Given the description of an element on the screen output the (x, y) to click on. 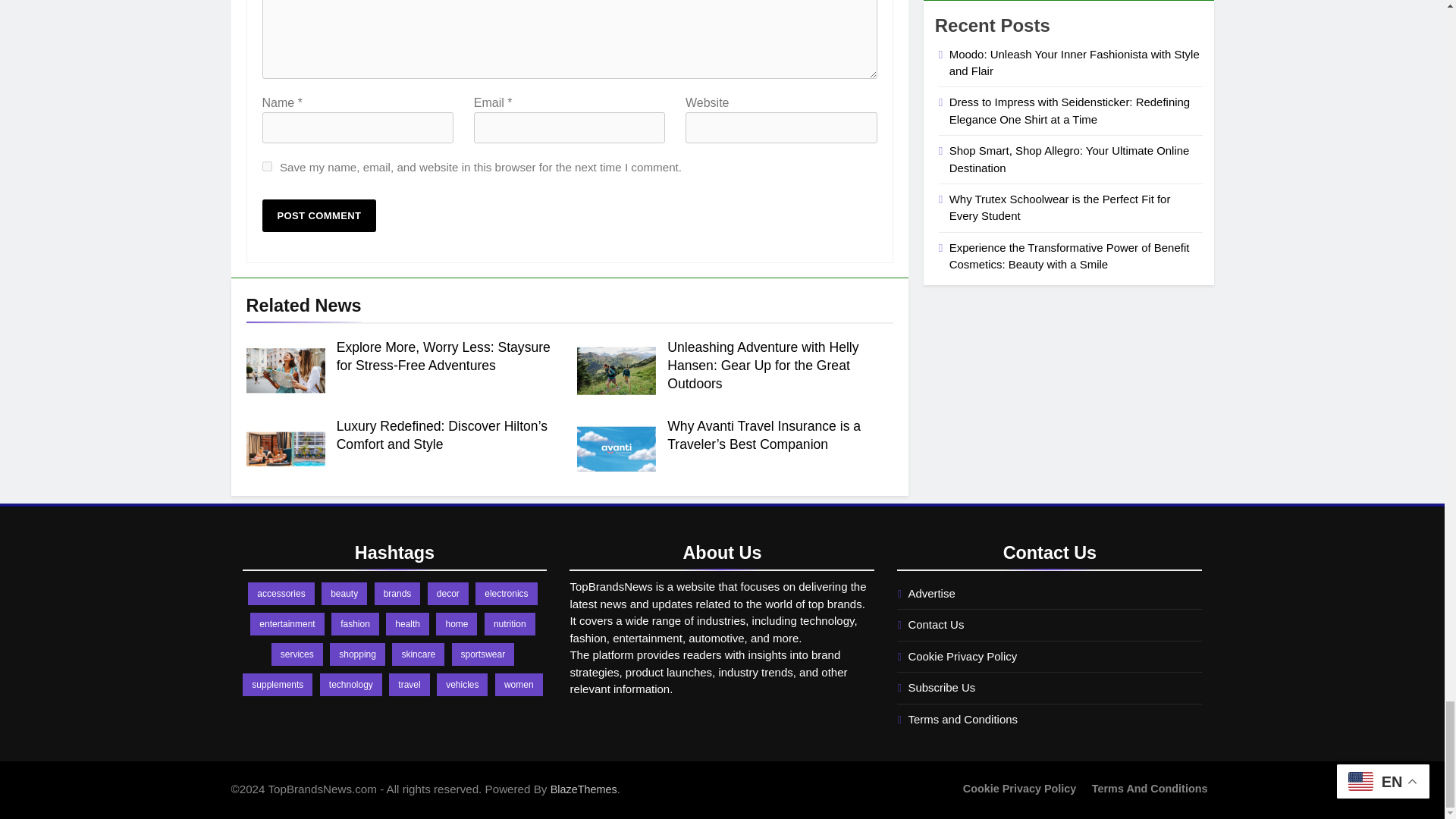
Post Comment (319, 215)
yes (267, 166)
